Given the description of an element on the screen output the (x, y) to click on. 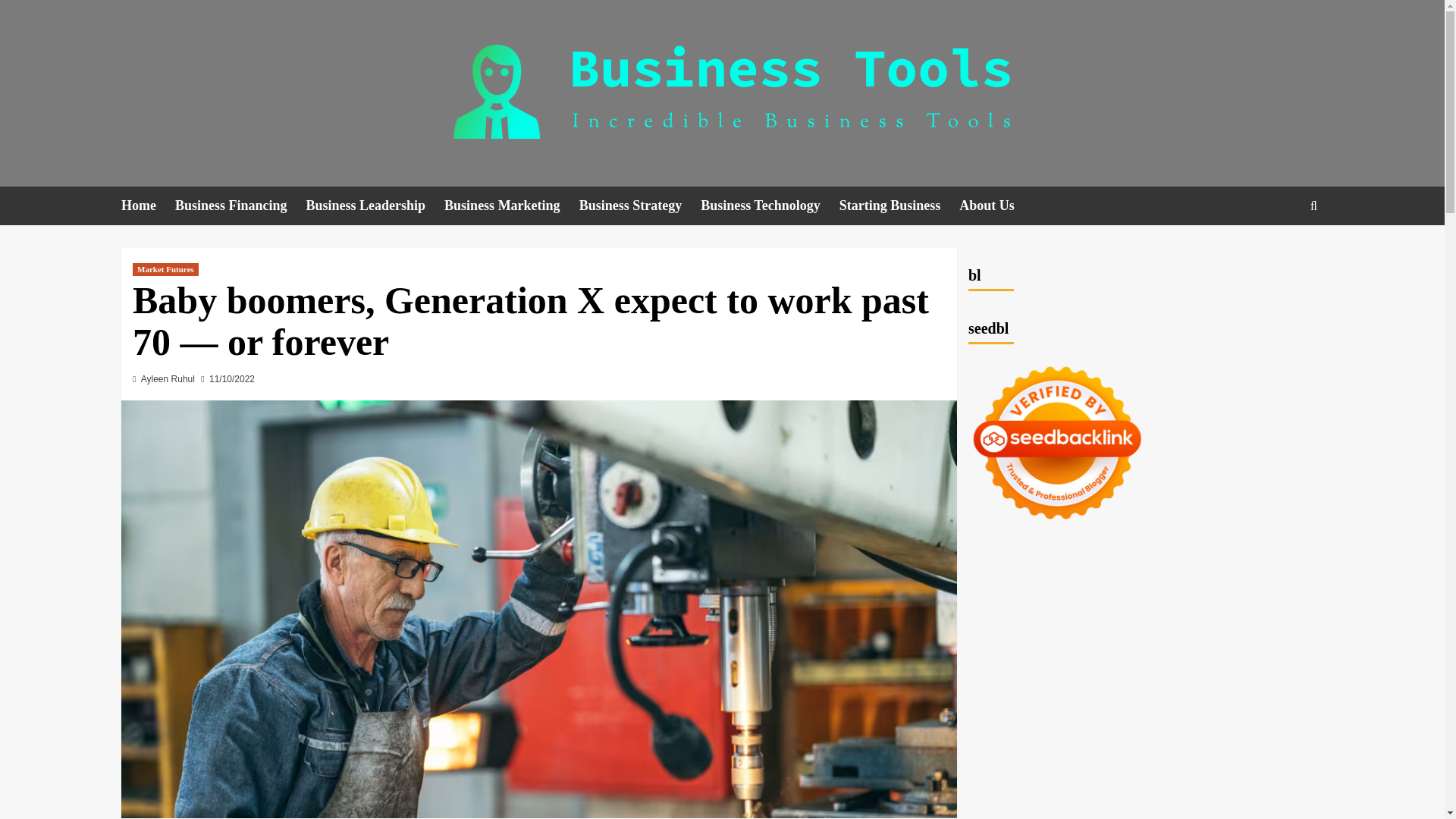
Home (147, 205)
Business Strategy (640, 205)
Business Leadership (375, 205)
About Us (996, 205)
Seedbacklink (1056, 442)
Business Technology (770, 205)
Market Futures (165, 269)
Ayleen Ruhul (168, 378)
Business Financing (239, 205)
Search (1278, 252)
Business Marketing (511, 205)
Starting Business (899, 205)
